Given the description of an element on the screen output the (x, y) to click on. 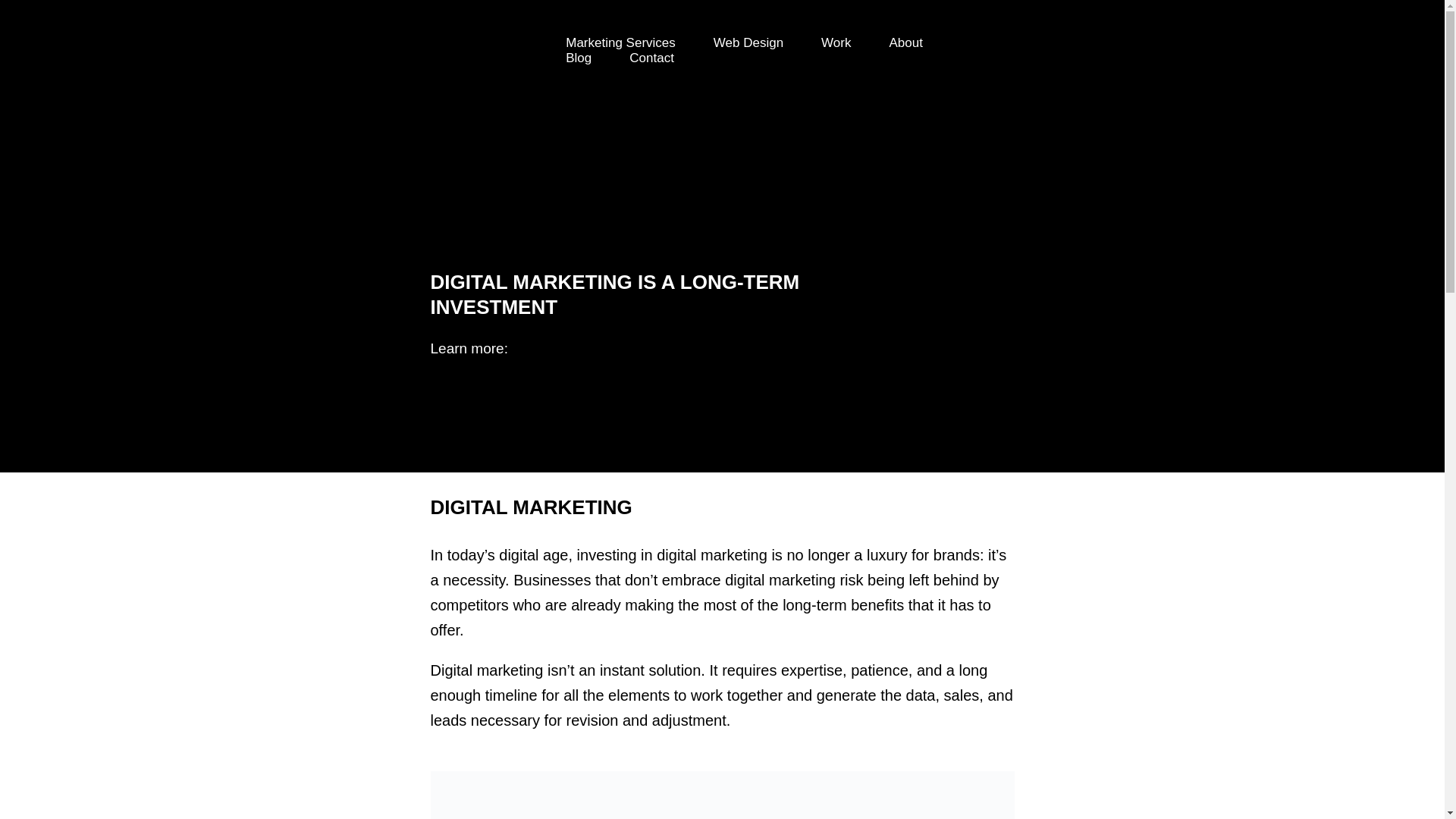
Blog (578, 58)
Contact (651, 58)
Work (835, 43)
About (904, 43)
Web Design (748, 43)
Marketing Services (620, 43)
